Given the description of an element on the screen output the (x, y) to click on. 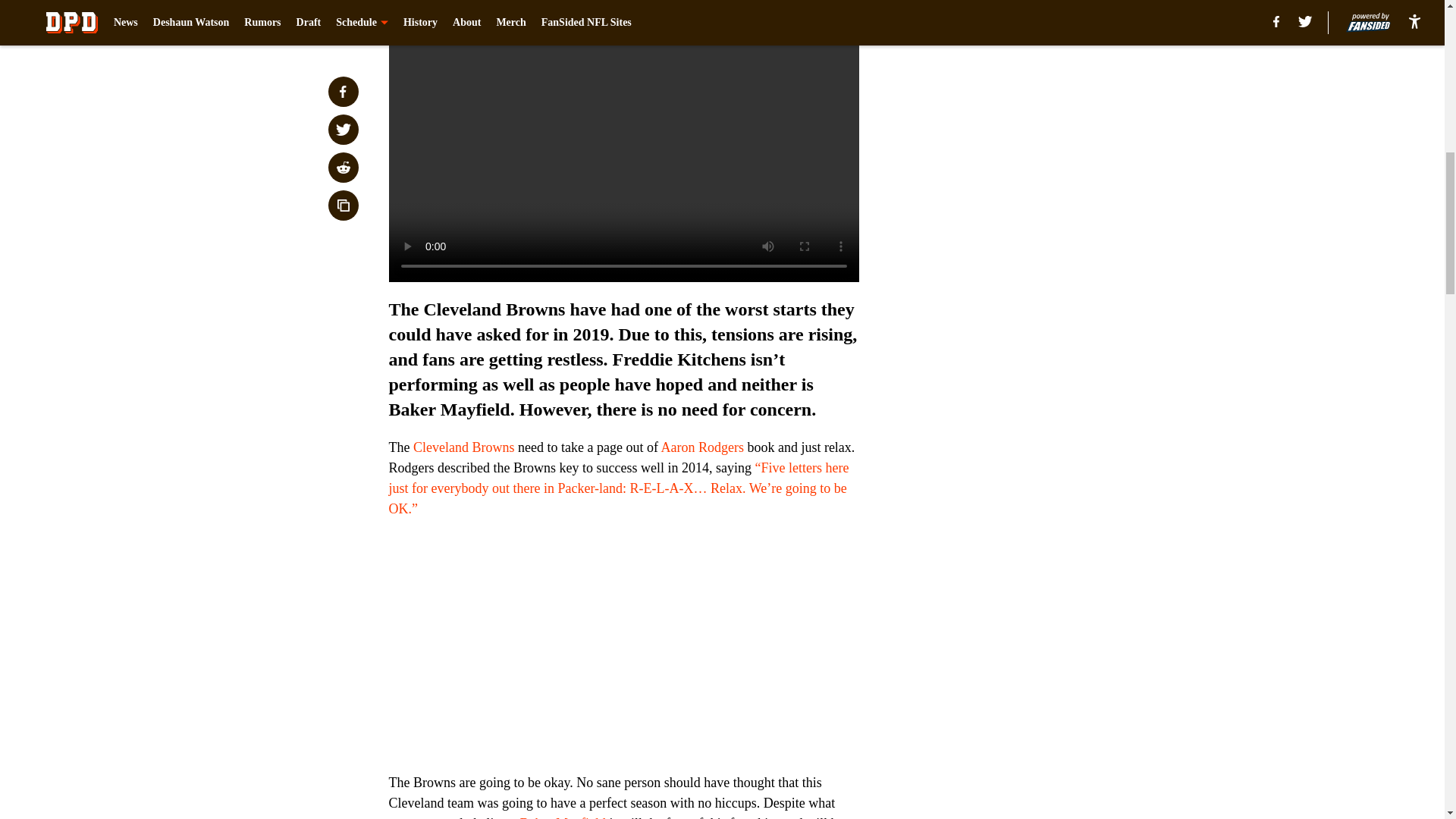
3rd party ad content (1047, 332)
Baker Mayfield (562, 817)
Aaron Rodgers (701, 447)
Cleveland Browns (463, 447)
3rd party ad content (1047, 113)
